Given the description of an element on the screen output the (x, y) to click on. 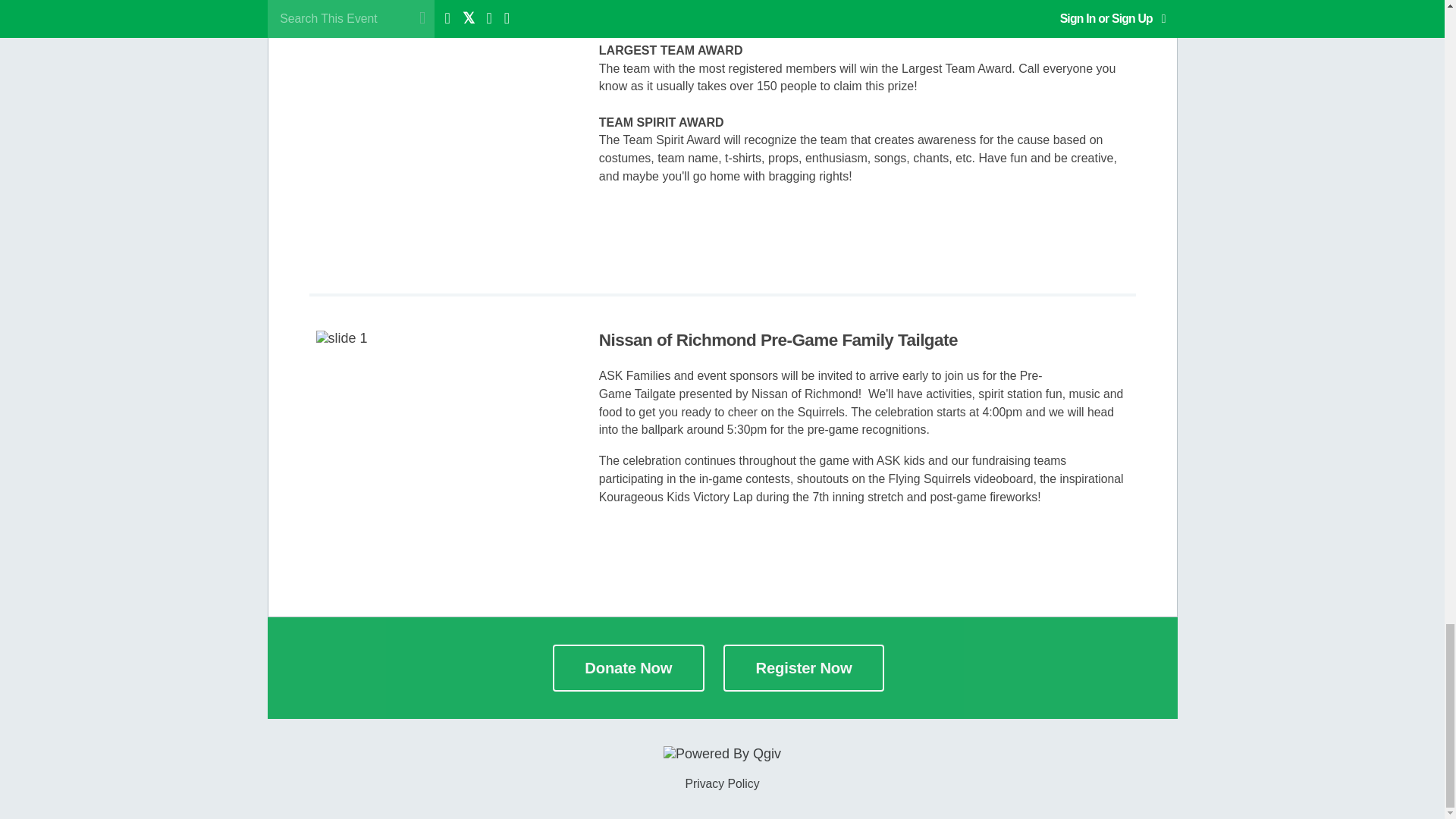
Register Now (803, 667)
Privacy Policy (721, 784)
Donate Now (628, 667)
